Given the description of an element on the screen output the (x, y) to click on. 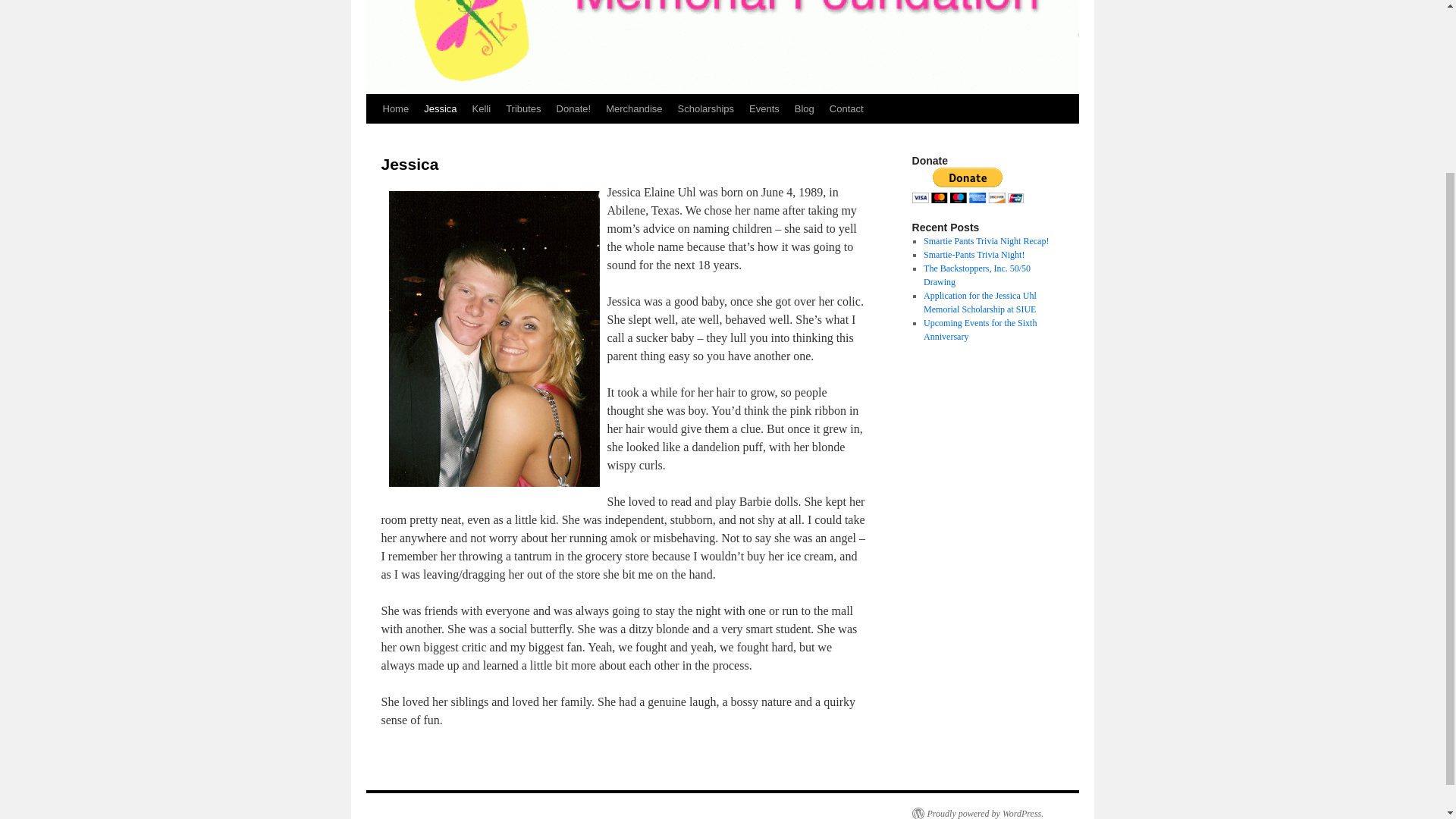
Events (764, 109)
Jessica (440, 109)
Smartie-Pants Trivia Night! (974, 254)
Home (395, 109)
Application for the Jessica Uhl Memorial Scholarship at SIUE (979, 302)
Upcoming Events for the Sixth Anniversary (979, 329)
Scholarships (705, 109)
Donation (967, 199)
Blog (804, 109)
Donate! (573, 109)
Kelli (481, 109)
Contact (846, 109)
Tributes (522, 109)
Merchandise (633, 109)
Smartie Pants Trivia Night Recap! (985, 240)
